Given the description of an element on the screen output the (x, y) to click on. 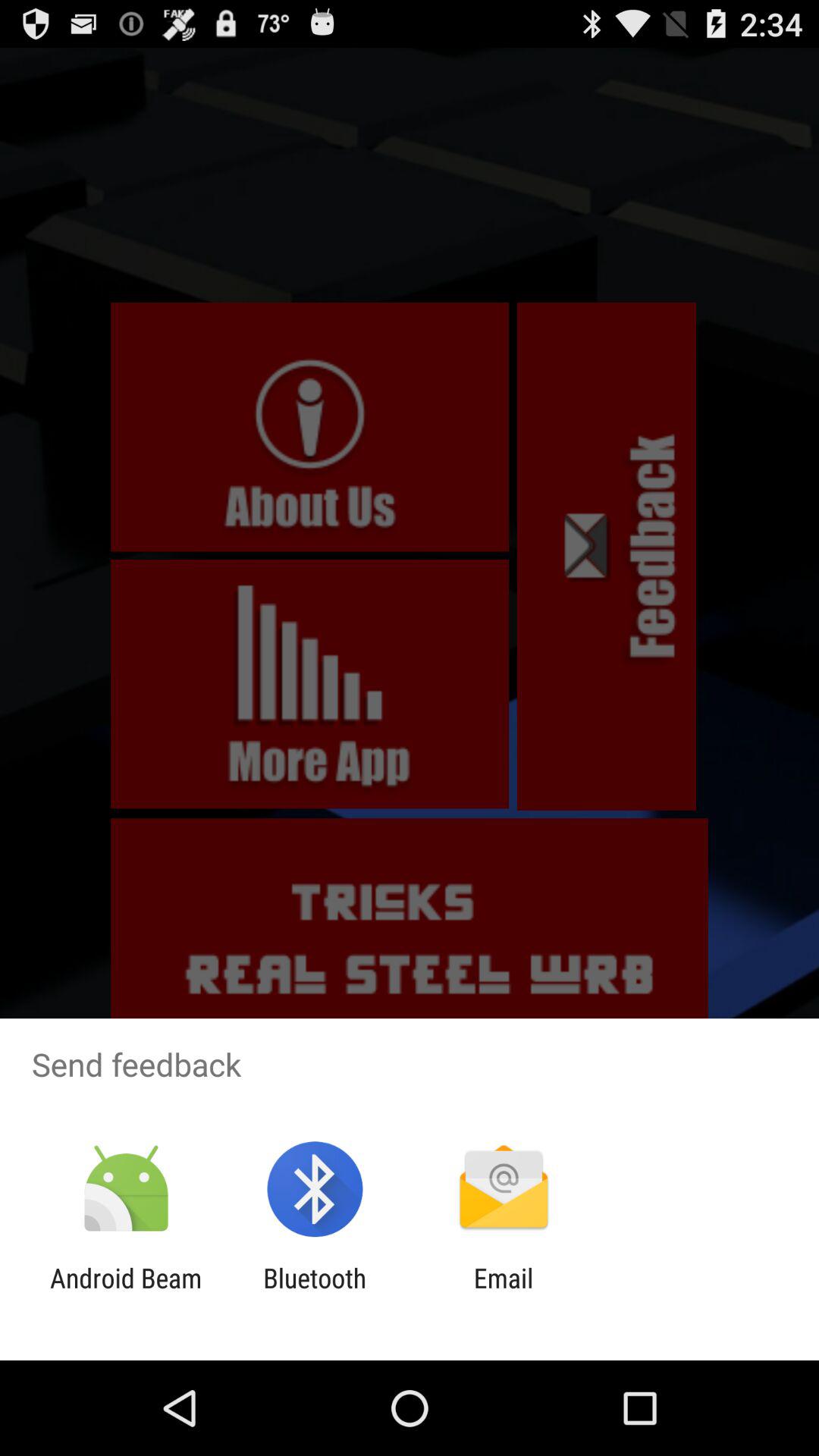
swipe until bluetooth app (314, 1293)
